Given the description of an element on the screen output the (x, y) to click on. 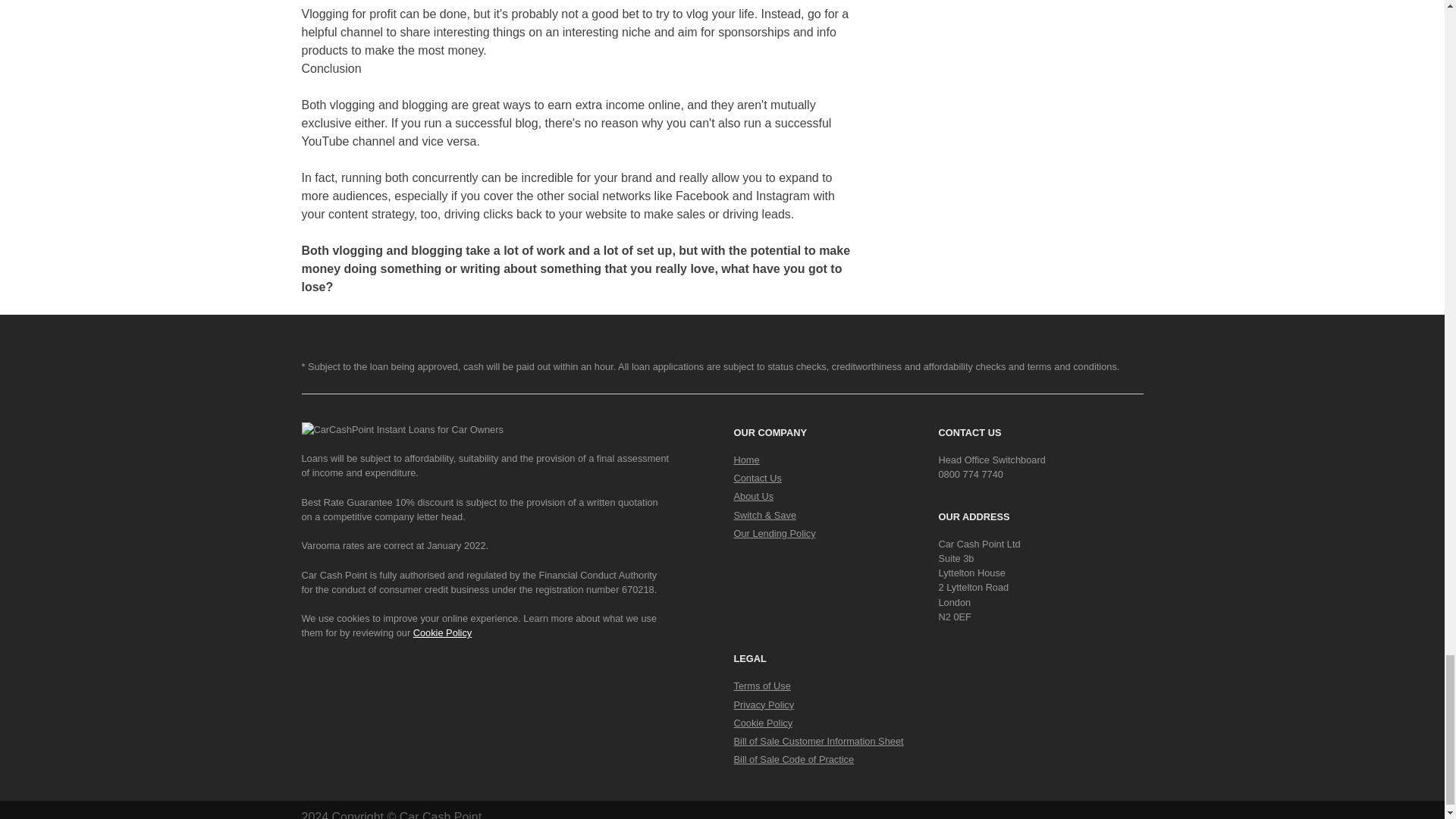
Terms of Use (761, 685)
Home (746, 460)
Cookie Policy (763, 722)
Privacy Policy (763, 704)
Bill of Sale Customer Information Sheet (818, 740)
About Us (753, 496)
Bill of Sale Code of Practice (793, 758)
Contact Us (757, 478)
Cookie Policy (442, 632)
Our Lending Policy (774, 532)
